Given the description of an element on the screen output the (x, y) to click on. 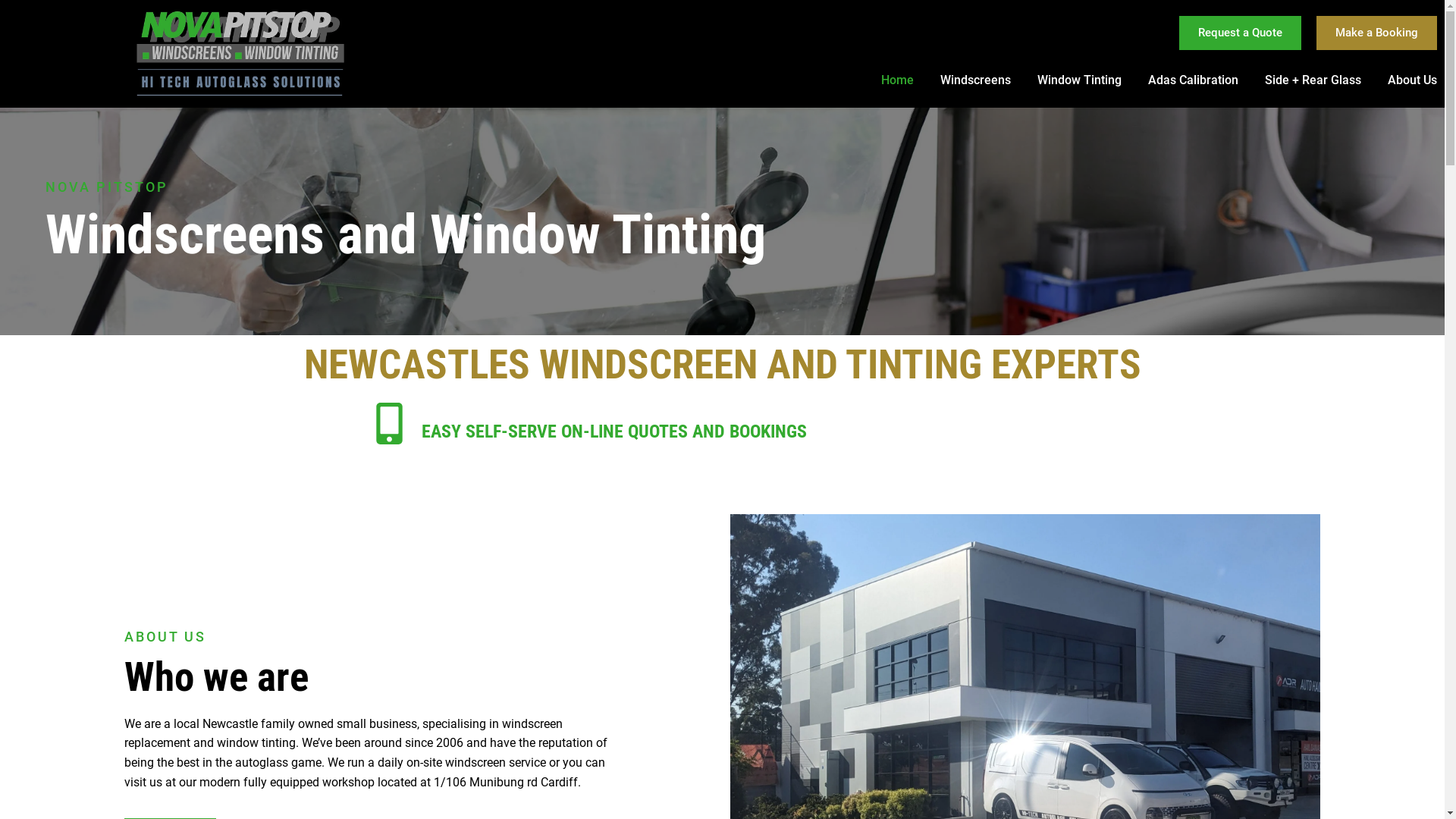
Window Tinting Element type: text (1079, 80)
Make a Booking Element type: text (1376, 32)
About Us Element type: text (1412, 80)
Request a Quote Element type: text (1240, 32)
Windscreens Element type: text (975, 80)
Adas Calibration Element type: text (1193, 80)
EASY SELF-SERVE ON-LINE QUOTES AND BOOKINGS Element type: text (613, 440)
Side + Rear Glass Element type: text (1312, 80)
Home Element type: text (897, 80)
